Given the description of an element on the screen output the (x, y) to click on. 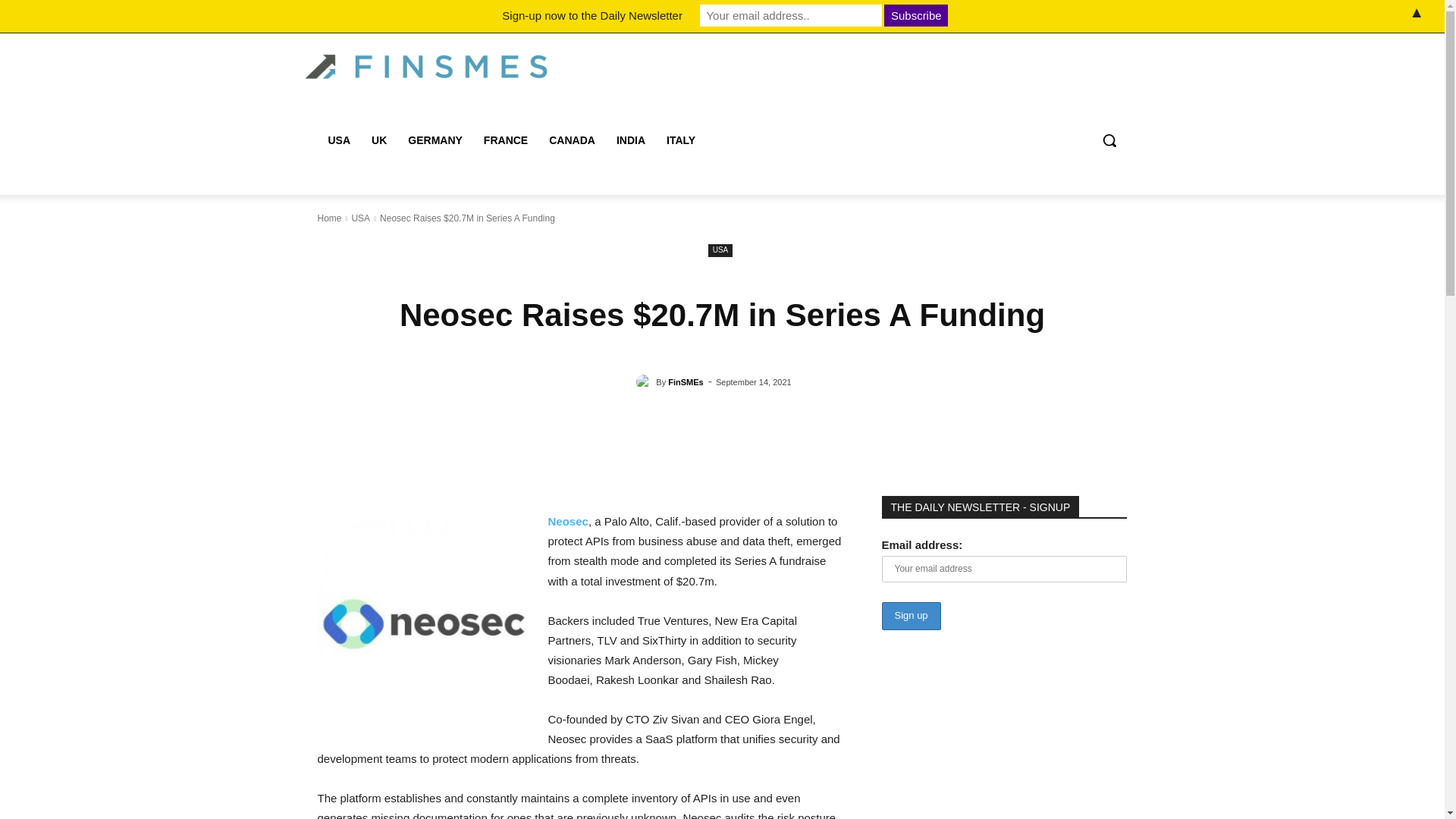
GERMANY (435, 140)
UK (379, 140)
Neosec (567, 521)
Home (328, 217)
USA (720, 250)
Subscribe (915, 15)
FRANCE (505, 140)
Sign up (910, 615)
USA (339, 140)
ITALY (681, 140)
